Given the description of an element on the screen output the (x, y) to click on. 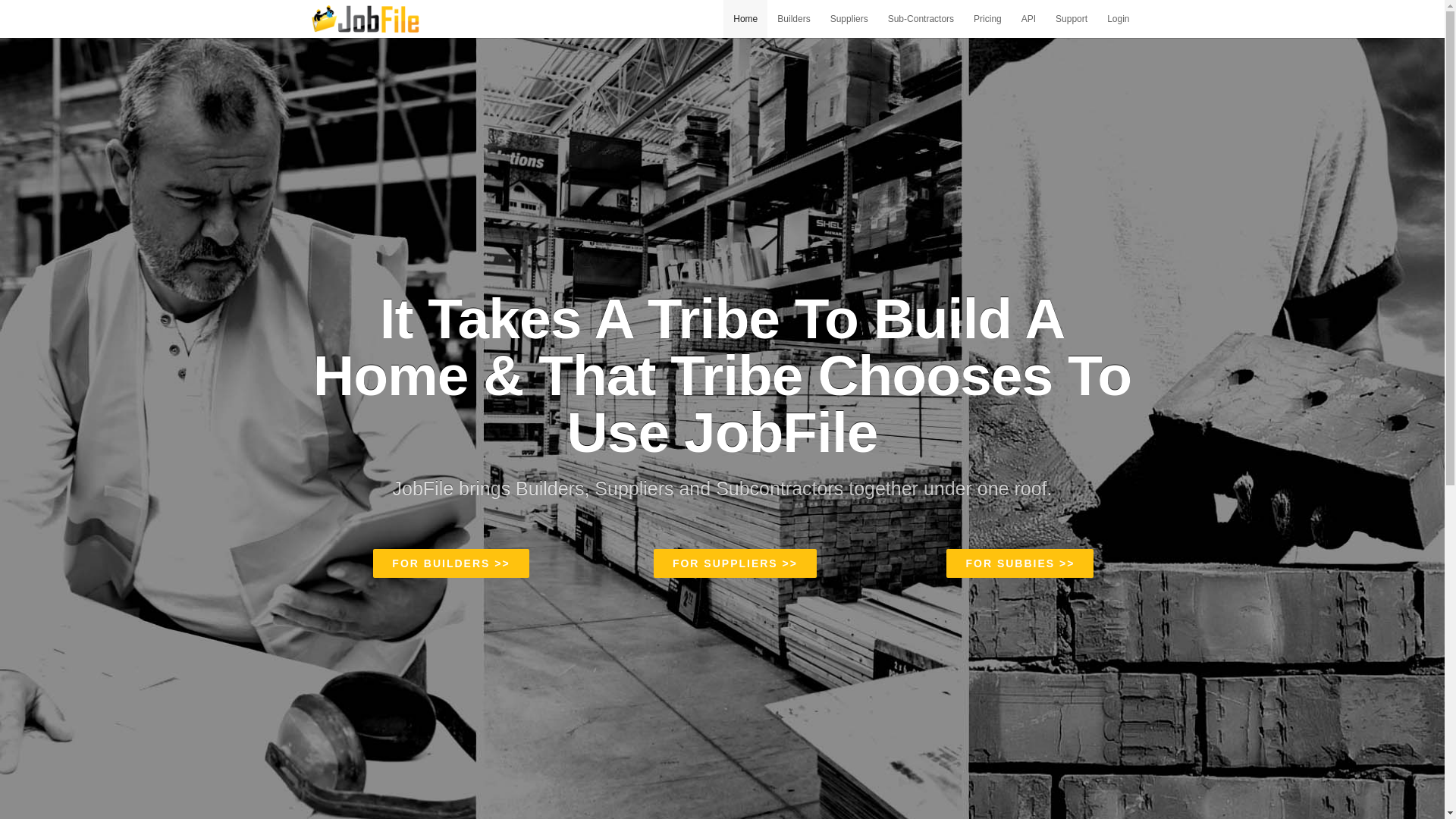
Login Element type: text (1118, 18)
FOR BUILDERS >> Element type: text (450, 563)
Job File Element type: hover (365, 18)
Builders Element type: text (793, 18)
FOR SUPPLIERS >> Element type: text (734, 563)
Home Element type: text (745, 18)
Support Element type: text (1071, 18)
Sub-Contractors Element type: text (920, 18)
API Element type: text (1028, 18)
FOR SUBBIES >> Element type: text (1019, 563)
Suppliers Element type: text (849, 18)
Pricing Element type: text (987, 18)
